Given the description of an element on the screen output the (x, y) to click on. 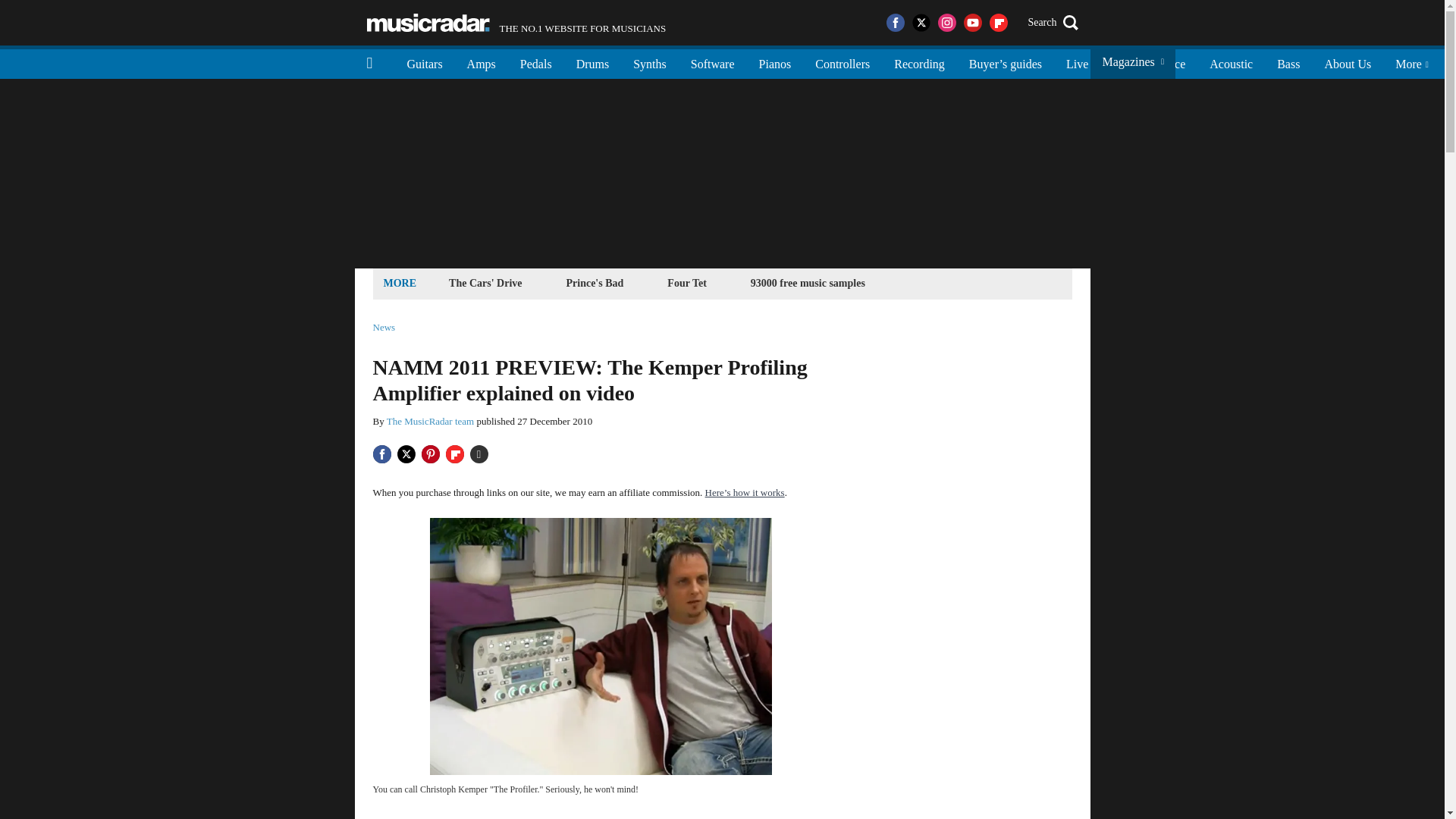
Live (1077, 61)
Prince's Bad (594, 282)
Pedals (536, 61)
Controllers (842, 61)
Drums (592, 61)
Synths (516, 22)
The Cars' Drive (649, 61)
Pianos (485, 282)
93000 free music samples (774, 61)
DJ (807, 282)
The MusicRadar team (1119, 61)
Advice (430, 420)
Music Radar (1167, 61)
Software (427, 22)
